Given the description of an element on the screen output the (x, y) to click on. 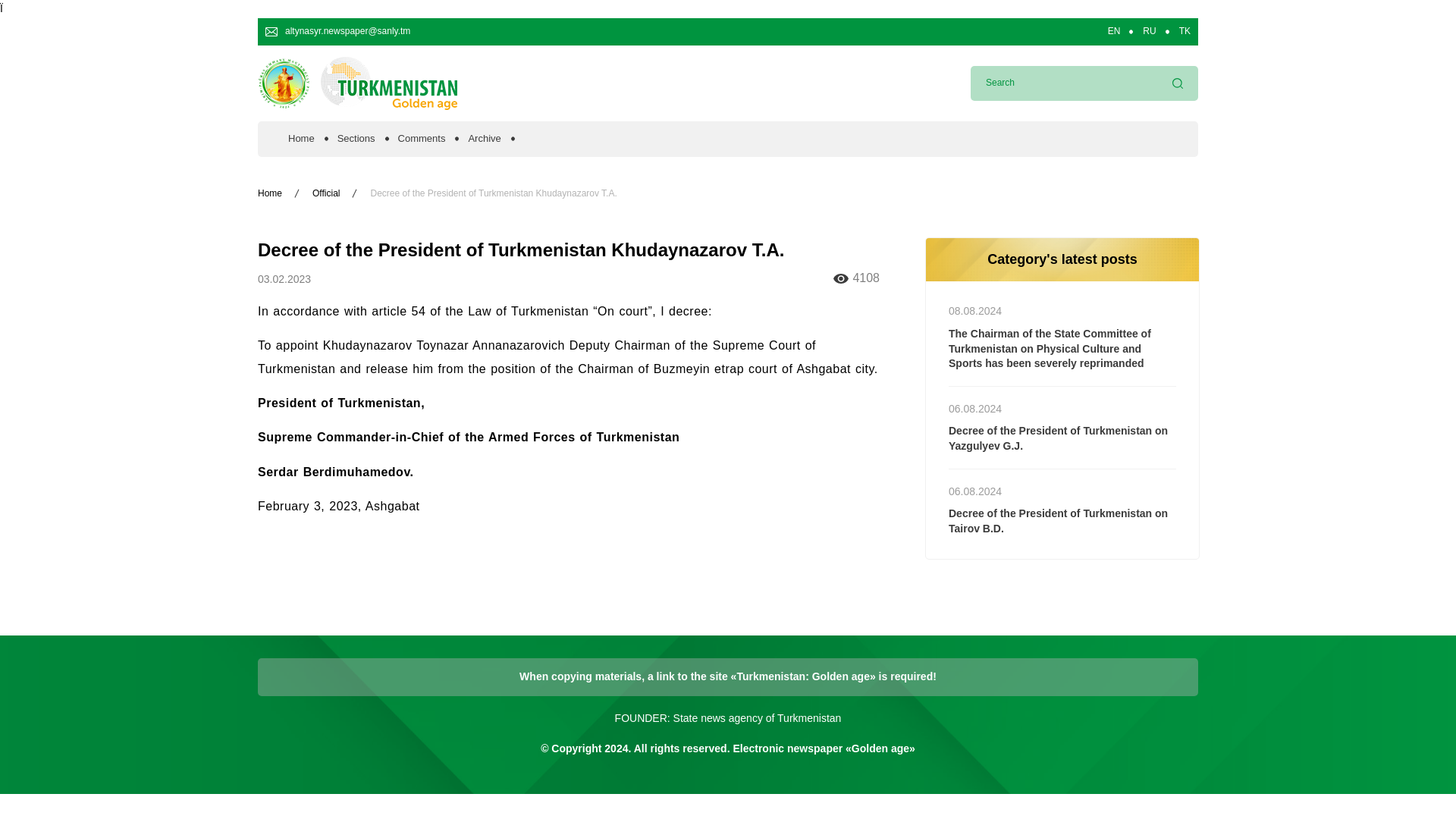
Archive (483, 138)
Comments (421, 138)
Official (326, 193)
RU (1149, 31)
Decree of the President of Turkmenistan on Yazgulyev G.J. (1062, 452)
Decree of the President of Turkmenistan Khudaynazarov T.A. (492, 193)
Home (269, 193)
Home (301, 138)
EN (1114, 31)
